Given the description of an element on the screen output the (x, y) to click on. 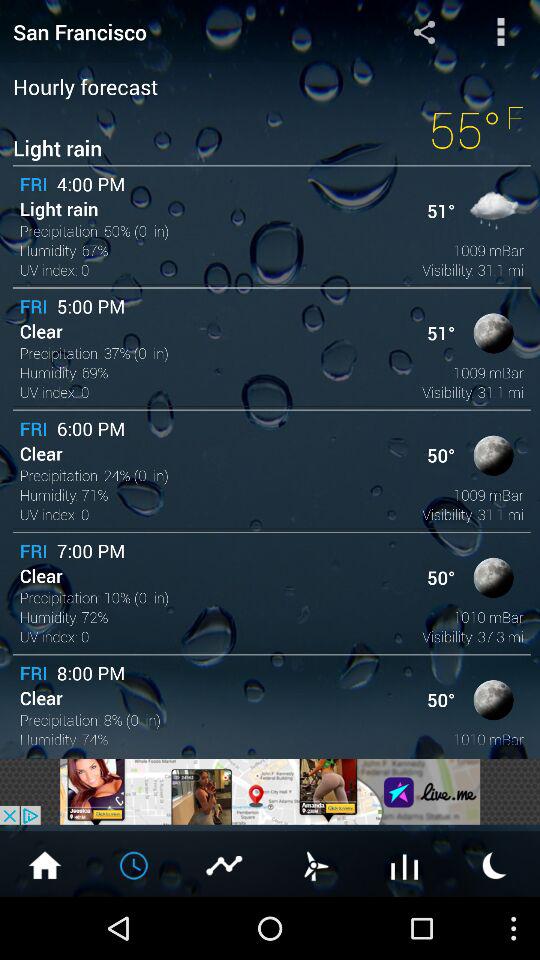
show by time (135, 864)
